Given the description of an element on the screen output the (x, y) to click on. 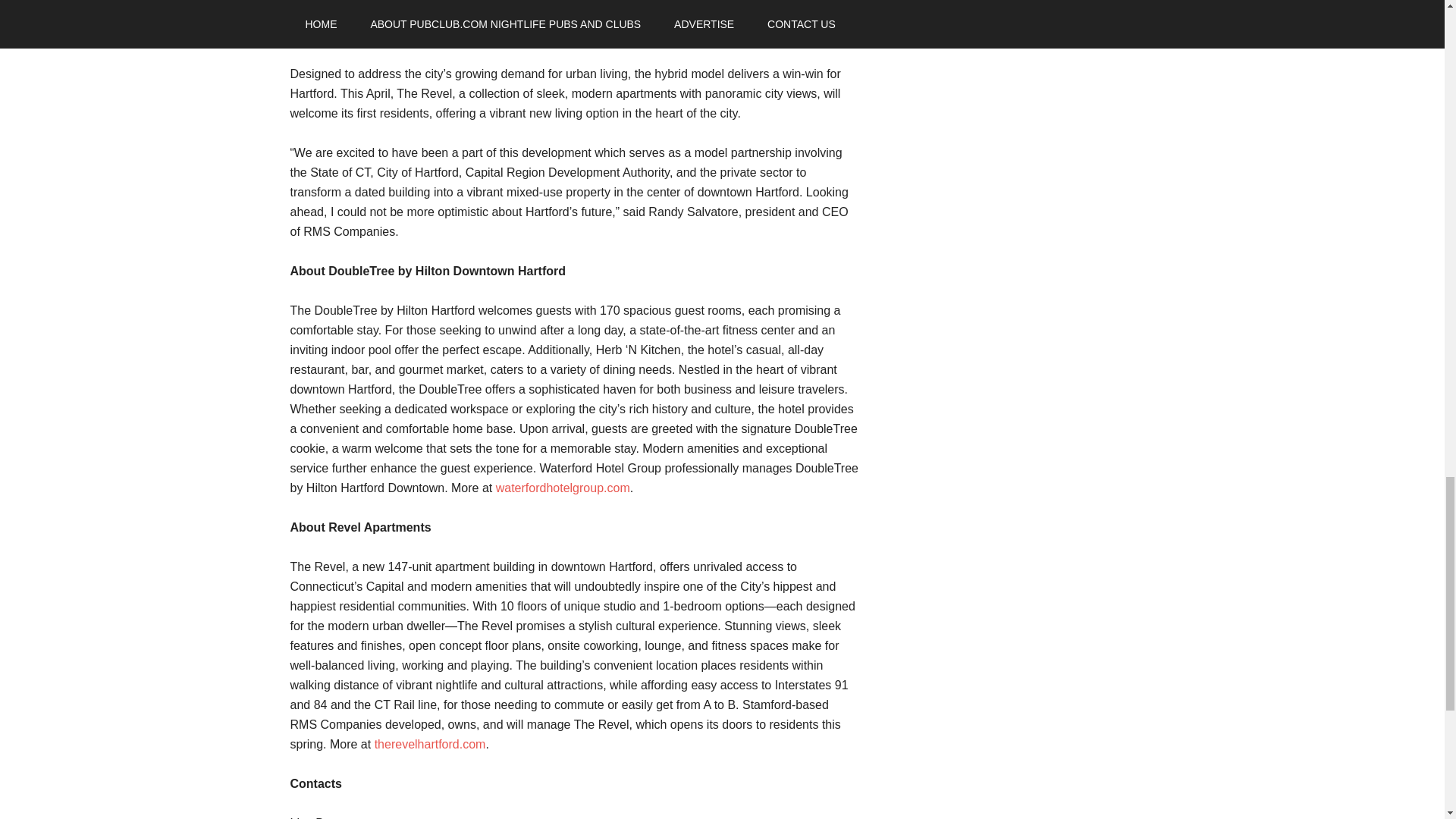
therevelhartford.com (430, 744)
waterfordhotelgroup.com (563, 487)
